Given the description of an element on the screen output the (x, y) to click on. 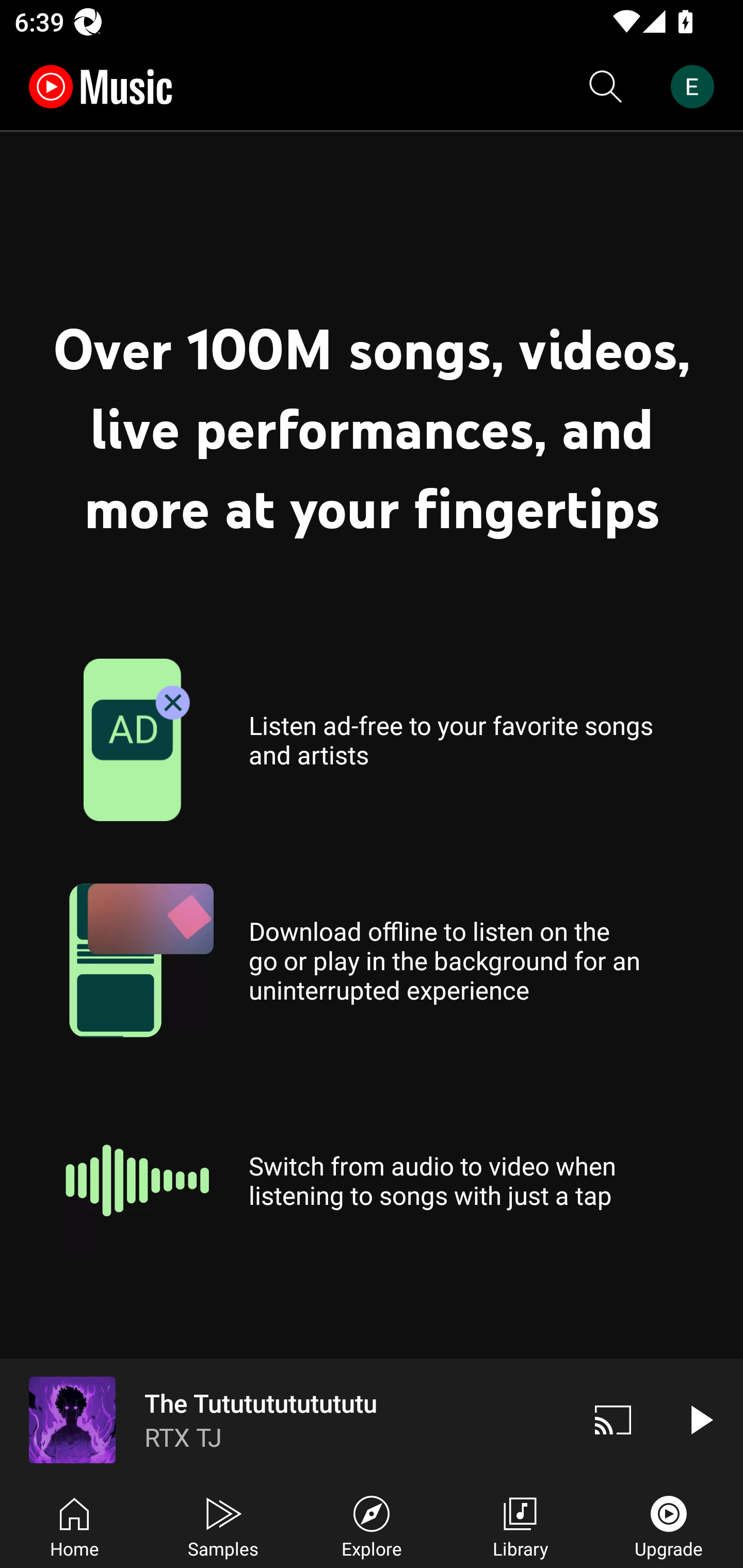
Search (605, 86)
Account (696, 86)
The Tutututututututu RTX TJ (284, 1419)
Cast. Disconnected (612, 1419)
Play video (699, 1419)
Home (74, 1524)
Samples (222, 1524)
Explore (371, 1524)
Library (519, 1524)
